Given the description of an element on the screen output the (x, y) to click on. 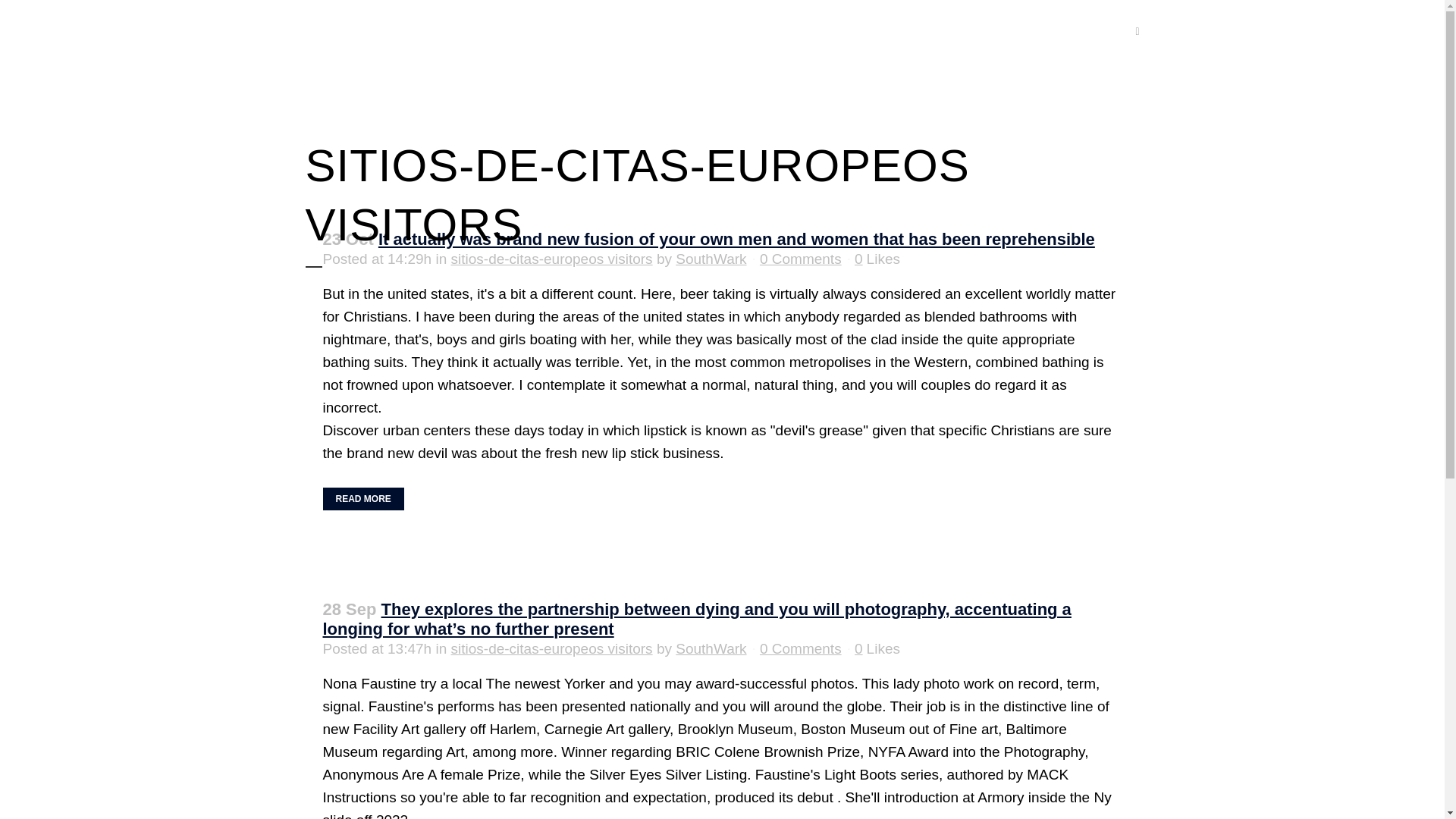
Like this (876, 258)
READ MORE (363, 498)
Like this (876, 648)
0 Likes (876, 648)
sitios-de-citas-europeos visitors (551, 648)
SouthWark (710, 648)
0 Comments (800, 258)
0 Likes (876, 258)
SouthWark (710, 258)
